Given the description of an element on the screen output the (x, y) to click on. 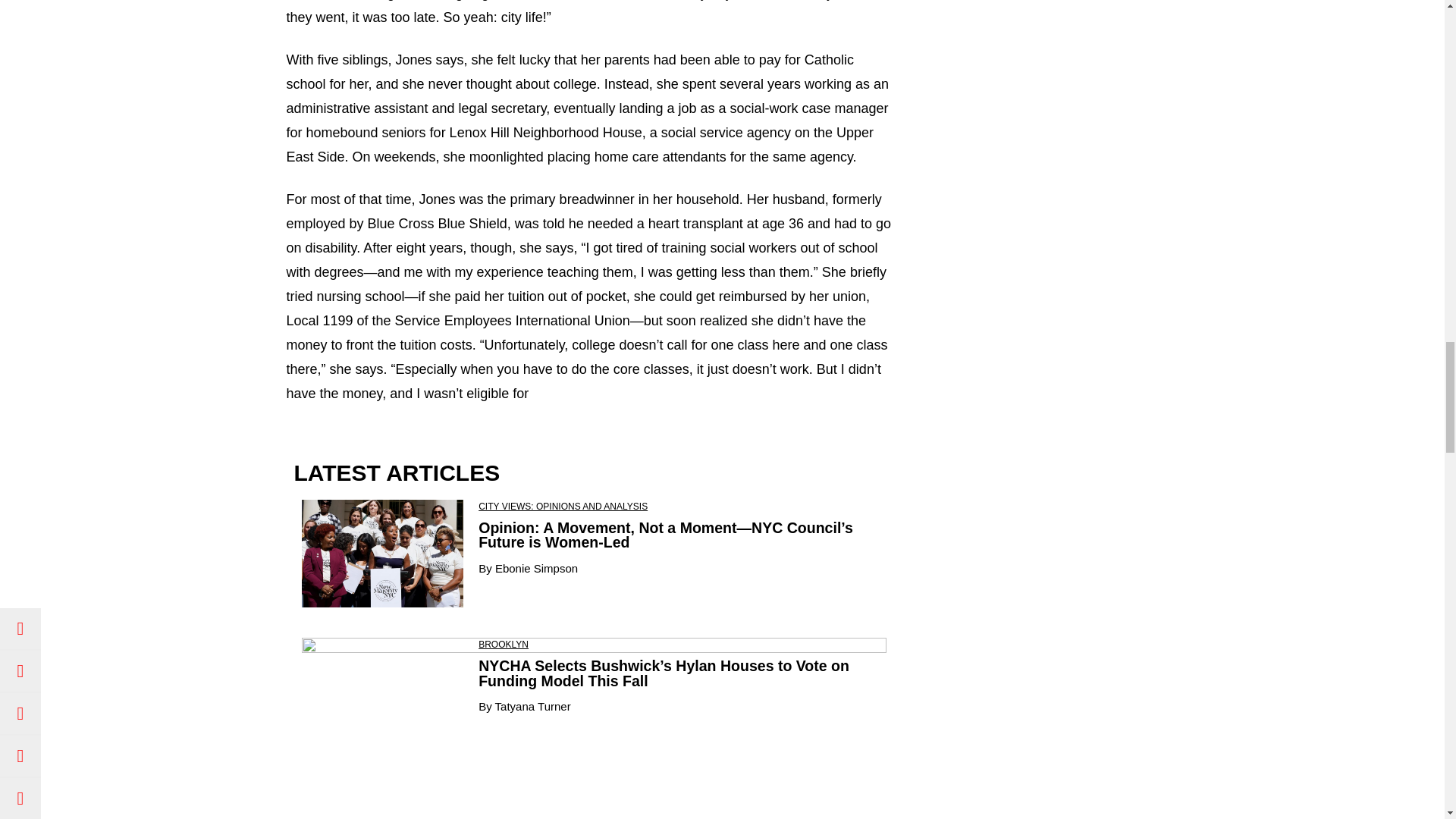
Read Articles in the Brooklyn category (503, 644)
Read All Posts By Tatyana Turner (532, 706)
Read All Posts By Ebonie Simpson (536, 567)
